Given the description of an element on the screen output the (x, y) to click on. 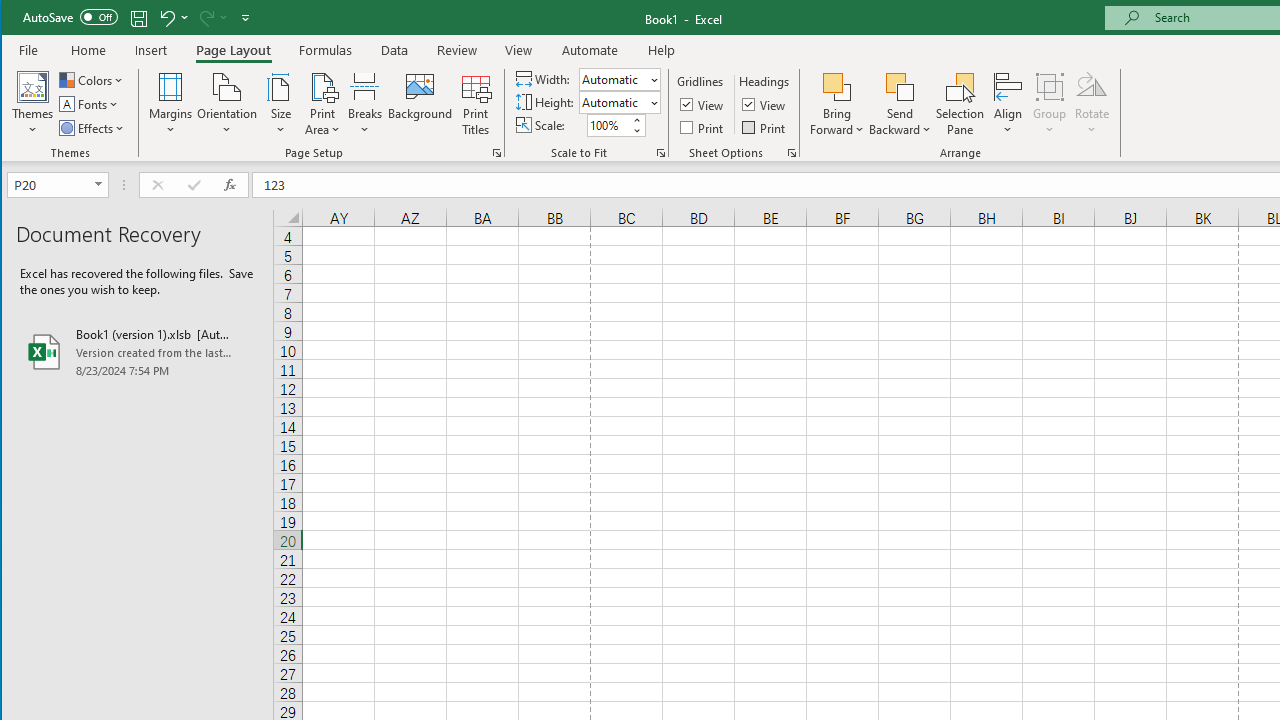
Breaks (365, 104)
Sheet Options (791, 152)
Background... (420, 104)
Send Backward (900, 104)
Height (612, 102)
Page Setup (660, 152)
Margins (170, 104)
